Given the description of an element on the screen output the (x, y) to click on. 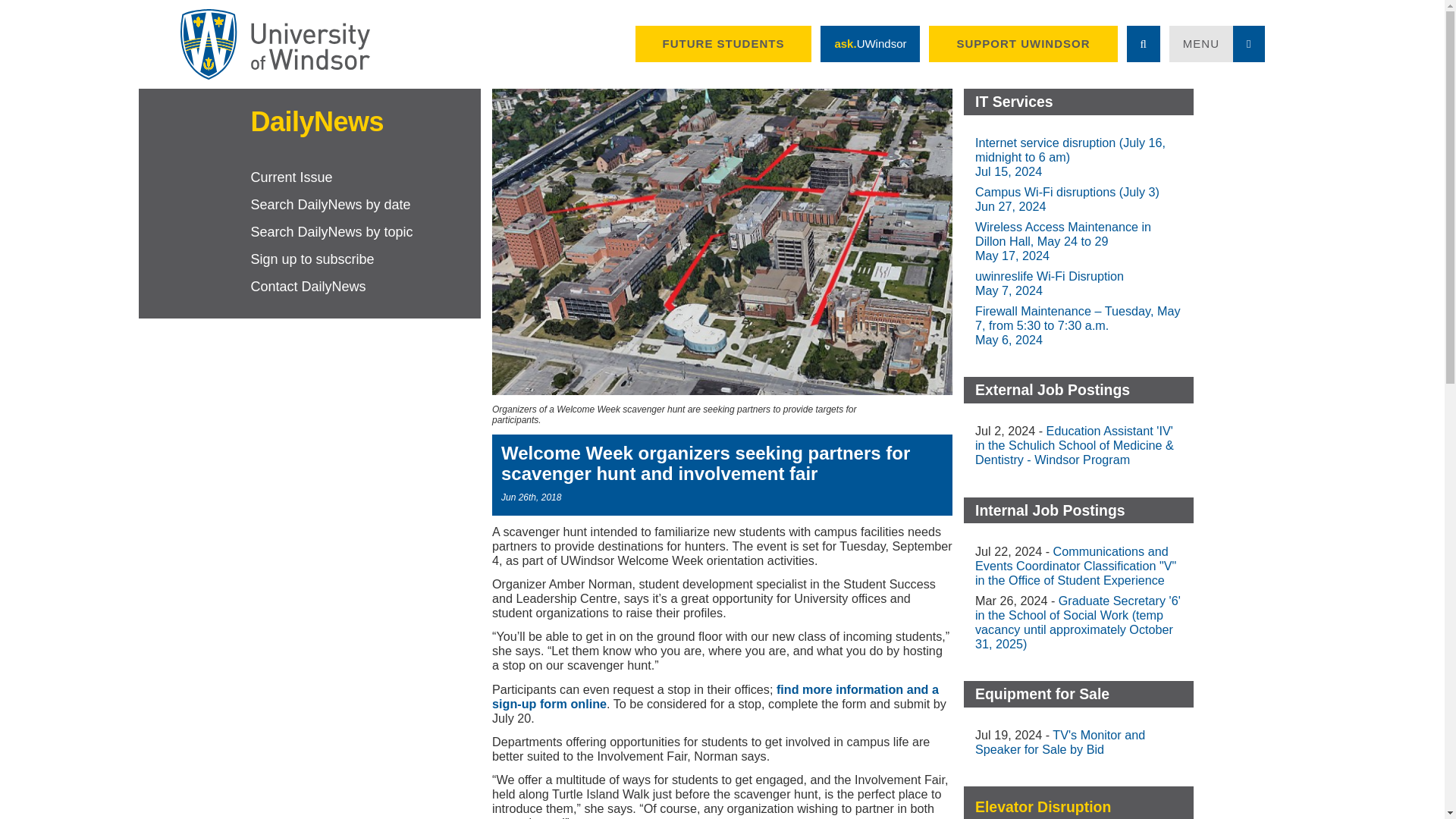
Subscribe to DailyNews (365, 258)
Home (274, 44)
Go to DailyNews home page (309, 121)
